Given the description of an element on the screen output the (x, y) to click on. 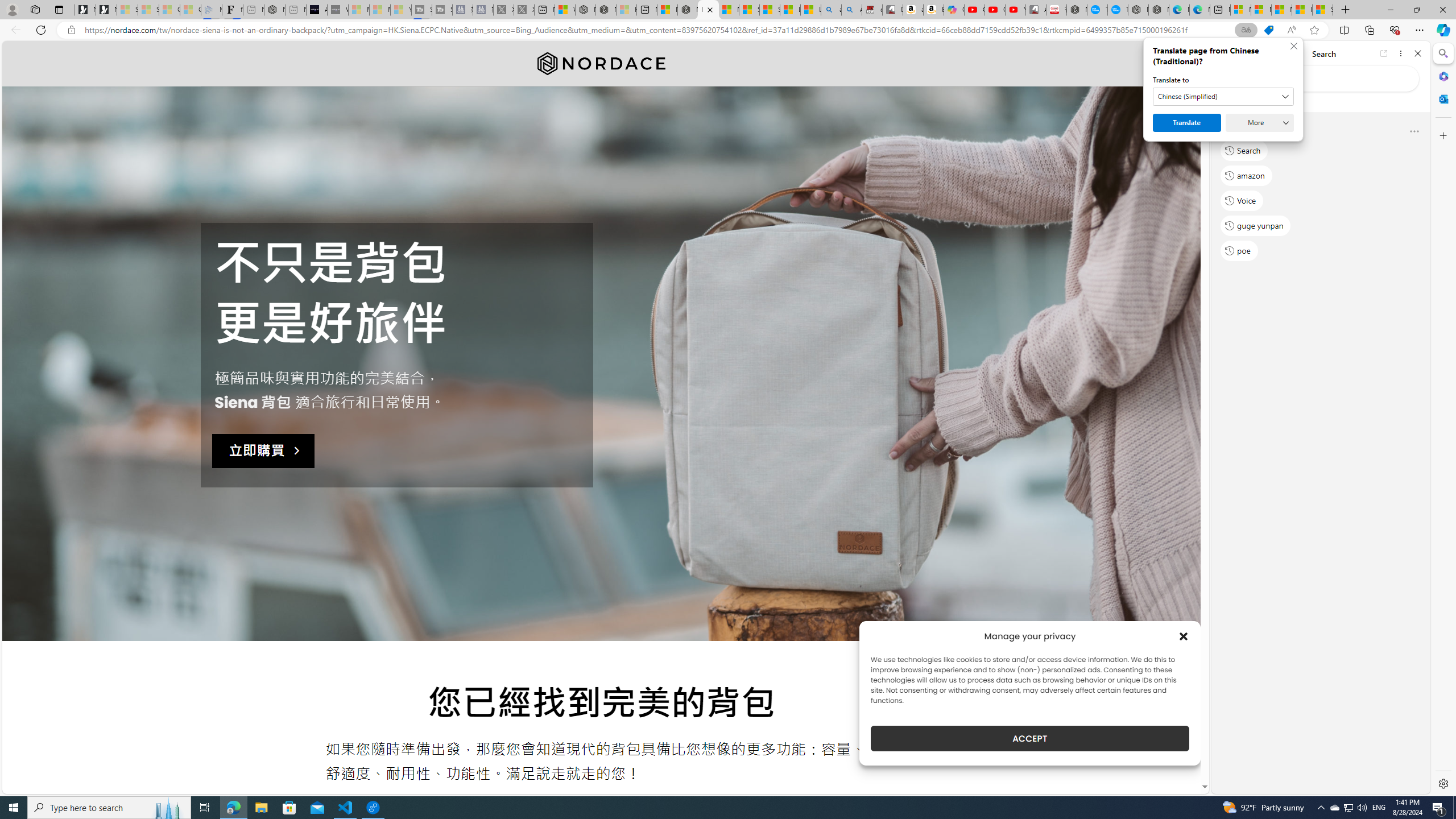
I Gained 20 Pounds of Muscle in 30 Days! | Watch (1302, 9)
Side bar (1443, 418)
What's the best AI voice generator? - voice.ai - Sleeping (337, 9)
The most popular Google 'how to' searches (1117, 9)
AI Voice Changer for PC and Mac - Voice.ai (316, 9)
Newsletter Sign Up (106, 9)
Microsoft Start - Sleeping (379, 9)
amazon (1246, 175)
